Given the description of an element on the screen output the (x, y) to click on. 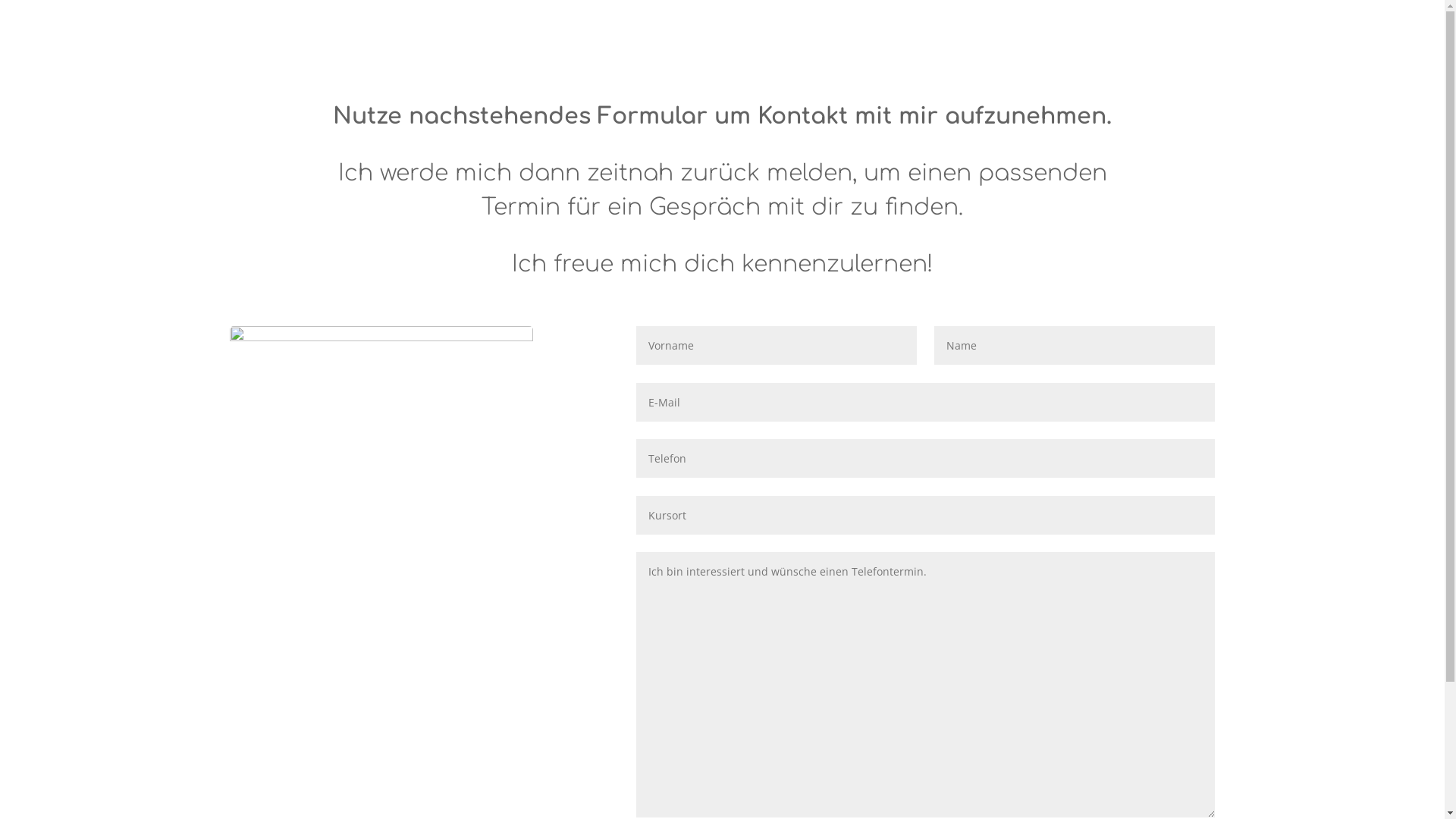
bysGbUmkr8ly3ZfprdFI Element type: hover (380, 427)
